Given the description of an element on the screen output the (x, y) to click on. 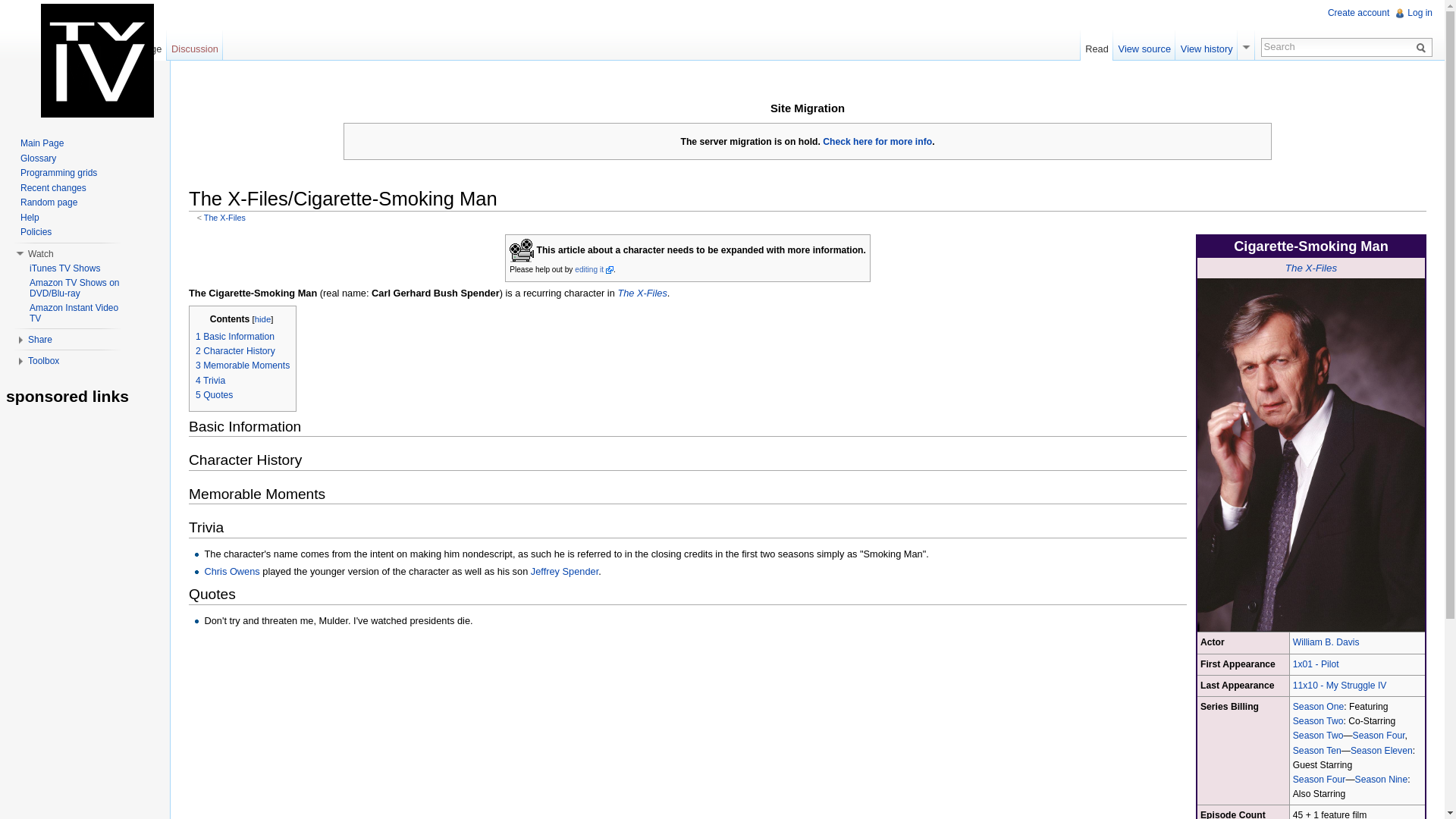
2 Character History (235, 350)
Read (1096, 45)
Season Nine (1381, 778)
1x01 - Pilot (1315, 664)
Check here for more info (876, 141)
Season Eleven (1381, 750)
5 Quotes (213, 394)
Season Four (1318, 778)
Discussion (195, 45)
Season Two (1317, 720)
William B. Davis (1325, 642)
Chris Owens (231, 571)
The X-Files (1310, 267)
Create account (1358, 12)
William B. Davis (1325, 642)
